Given the description of an element on the screen output the (x, y) to click on. 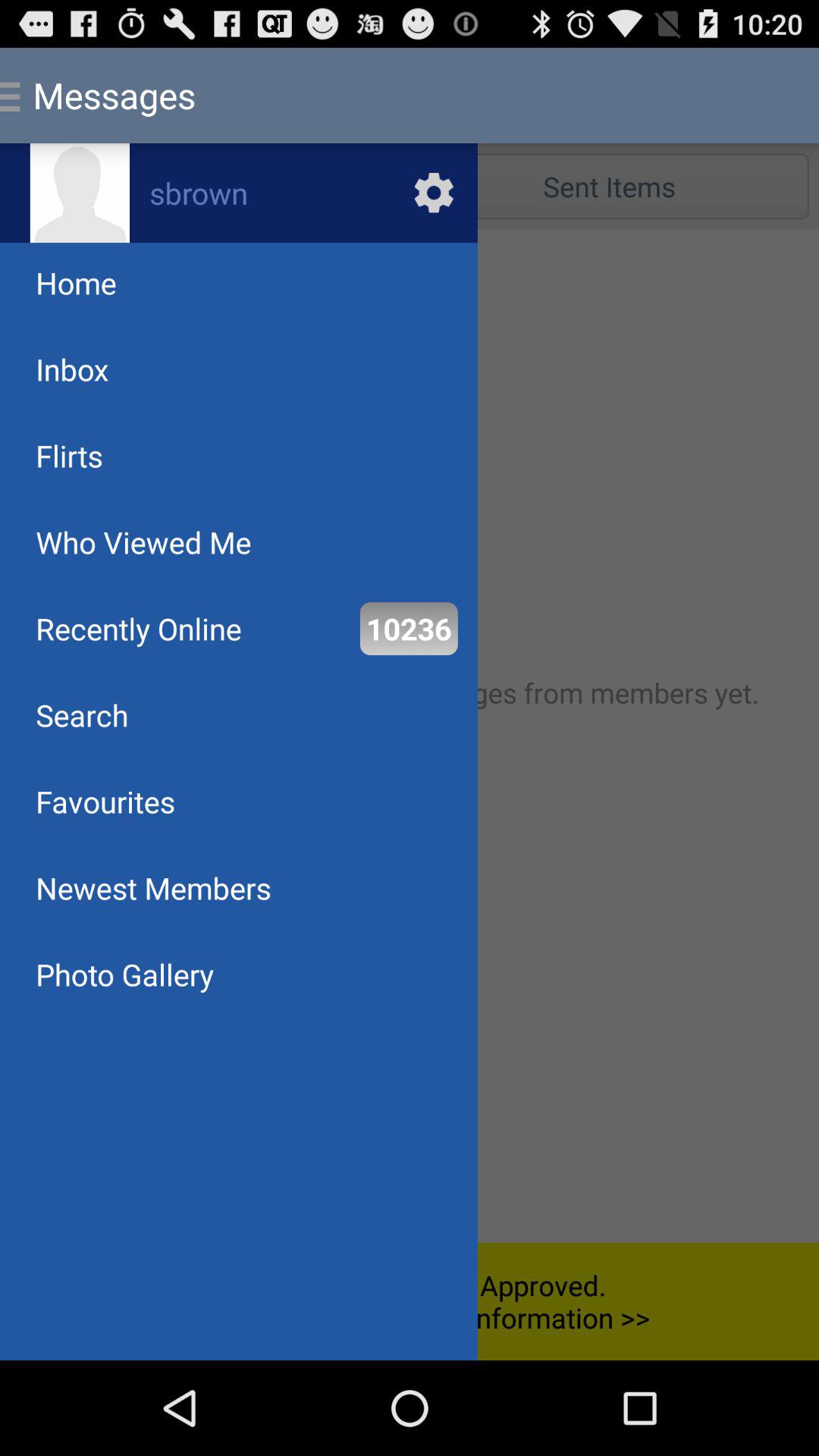
turn off flirts (68, 455)
